Given the description of an element on the screen output the (x, y) to click on. 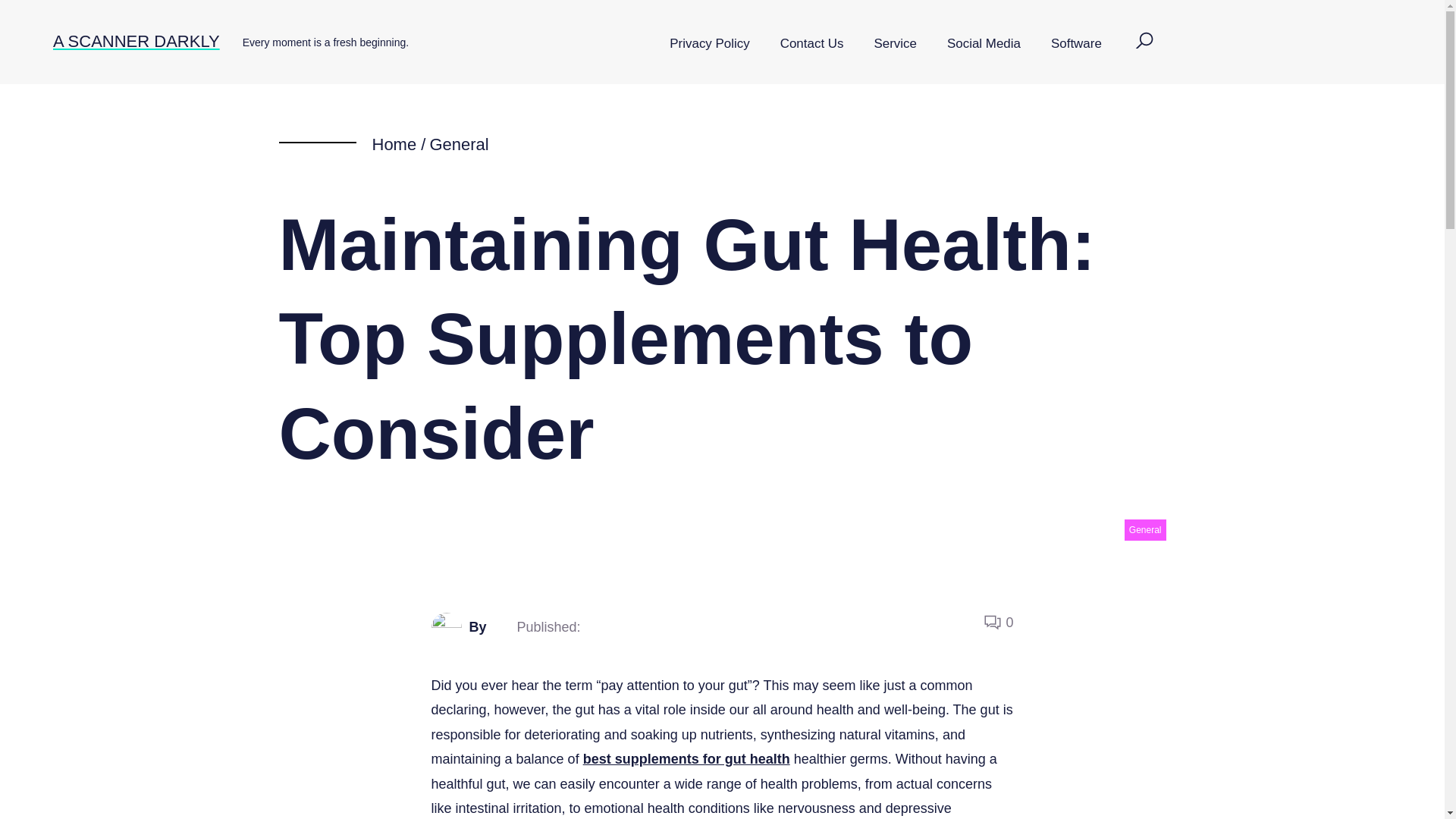
Home (393, 144)
Privacy Policy (708, 43)
Contact Us (812, 43)
A SCANNER DARKLY (135, 40)
Software (1075, 43)
General (458, 144)
General (1145, 529)
Social Media (983, 43)
best supplements for gut health (686, 758)
Service (895, 43)
